Given the description of an element on the screen output the (x, y) to click on. 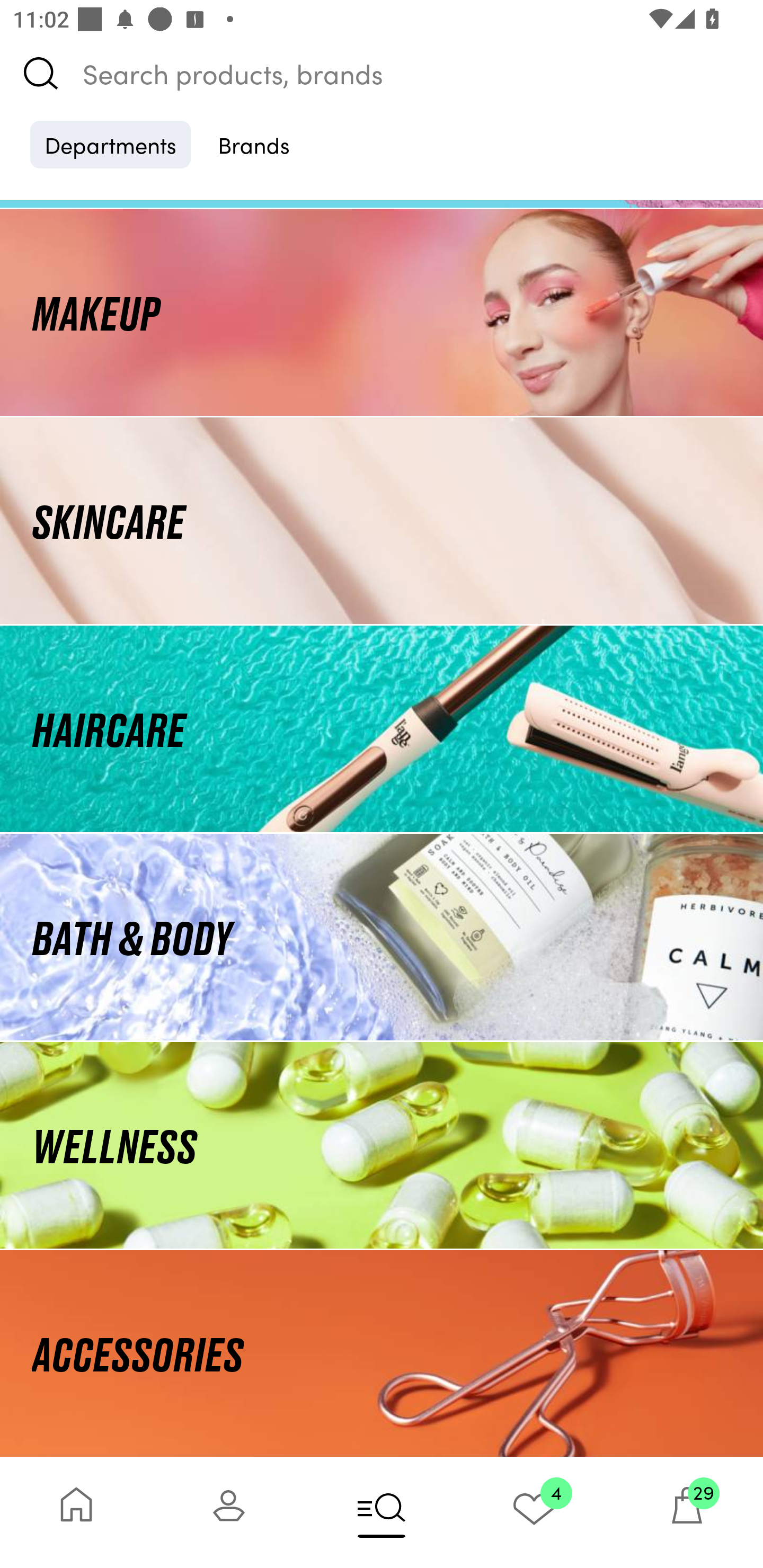
Search products, brands (381, 72)
Departments (110, 143)
Brands (253, 143)
MAKEUP (381, 311)
SKINCARE (381, 520)
HAIRCARE (381, 728)
BATH & BODY (381, 937)
WELLNESS (381, 1145)
ACCESSORIES (381, 1352)
4 (533, 1512)
29 (686, 1512)
